Given the description of an element on the screen output the (x, y) to click on. 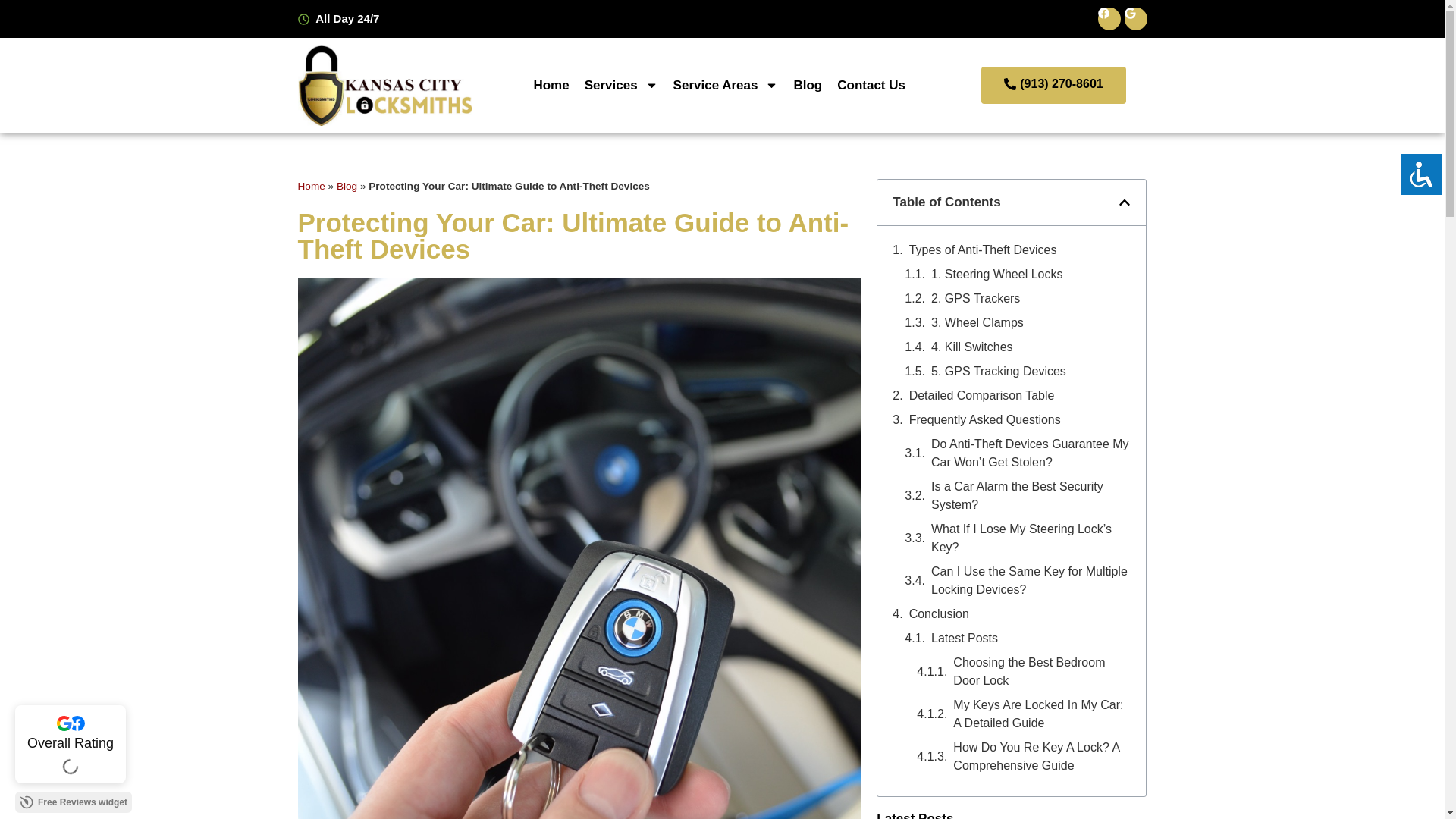
Service Areas (725, 85)
Free Reviews widget (73, 802)
Blog (807, 85)
Contact Us (870, 85)
Home (550, 85)
Services (620, 85)
